Given the description of an element on the screen output the (x, y) to click on. 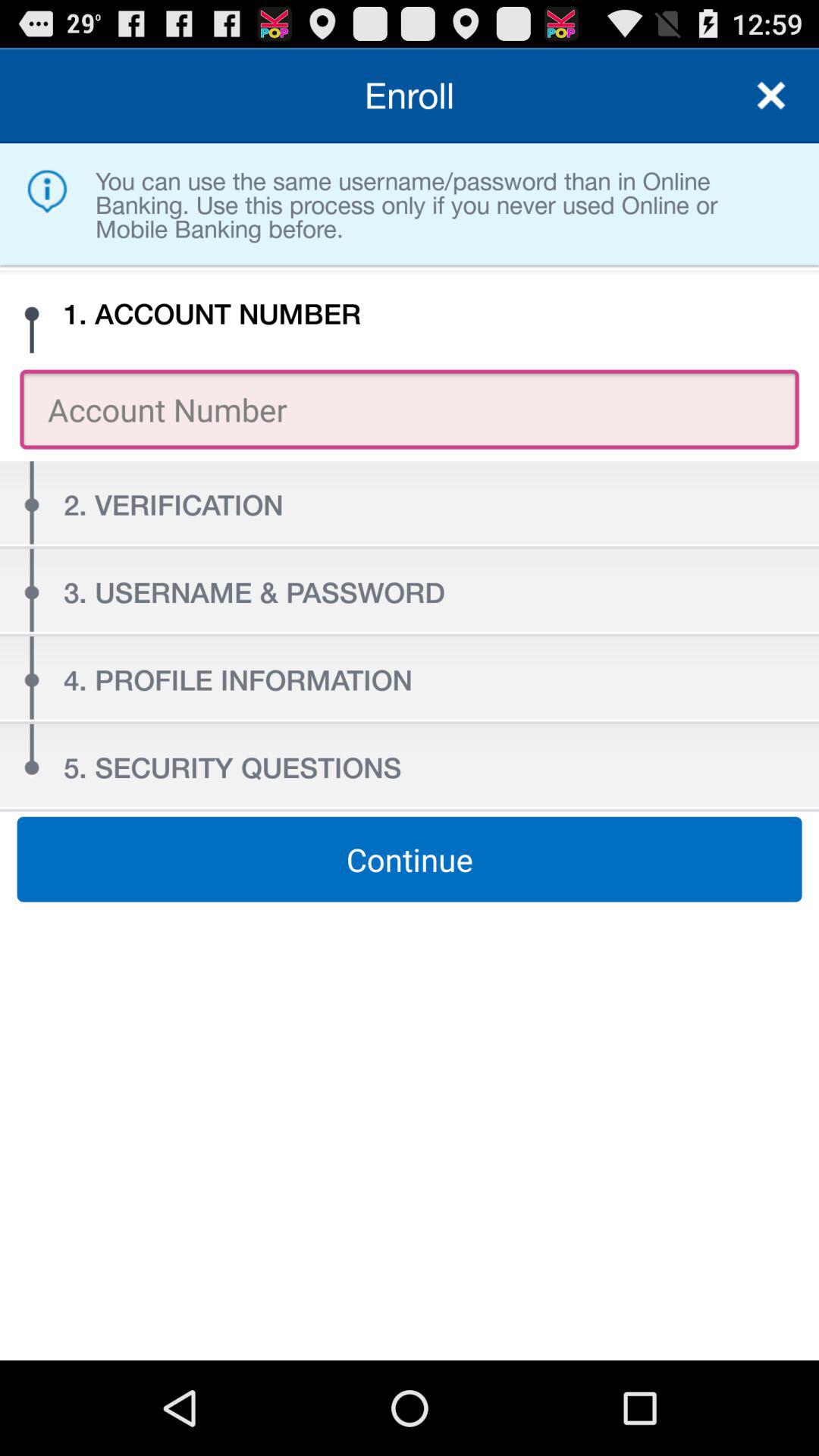
select the item next to enroll item (771, 95)
